Given the description of an element on the screen output the (x, y) to click on. 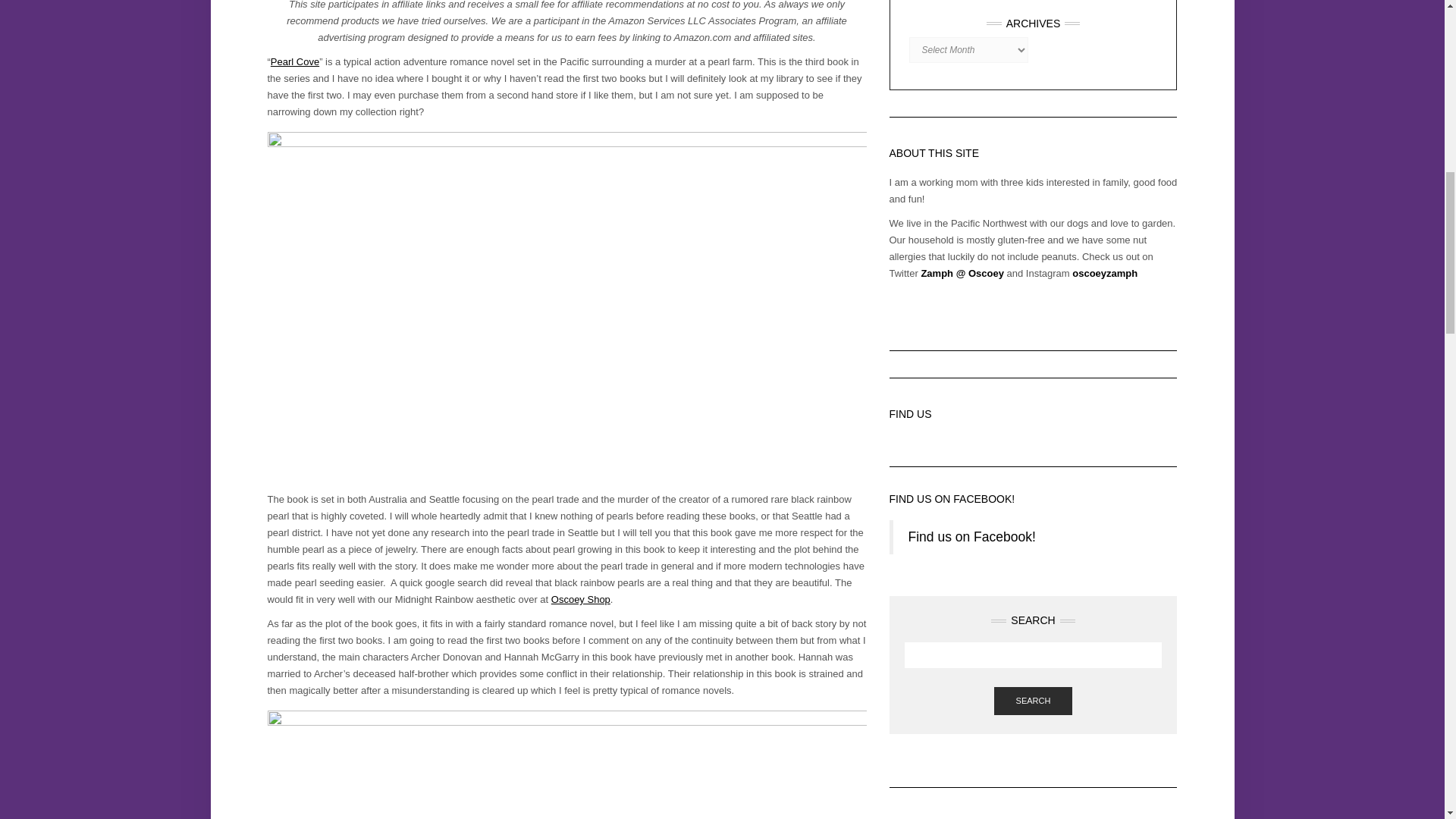
Pearl Cove (294, 61)
Oscoey Shop (580, 599)
